Given the description of an element on the screen output the (x, y) to click on. 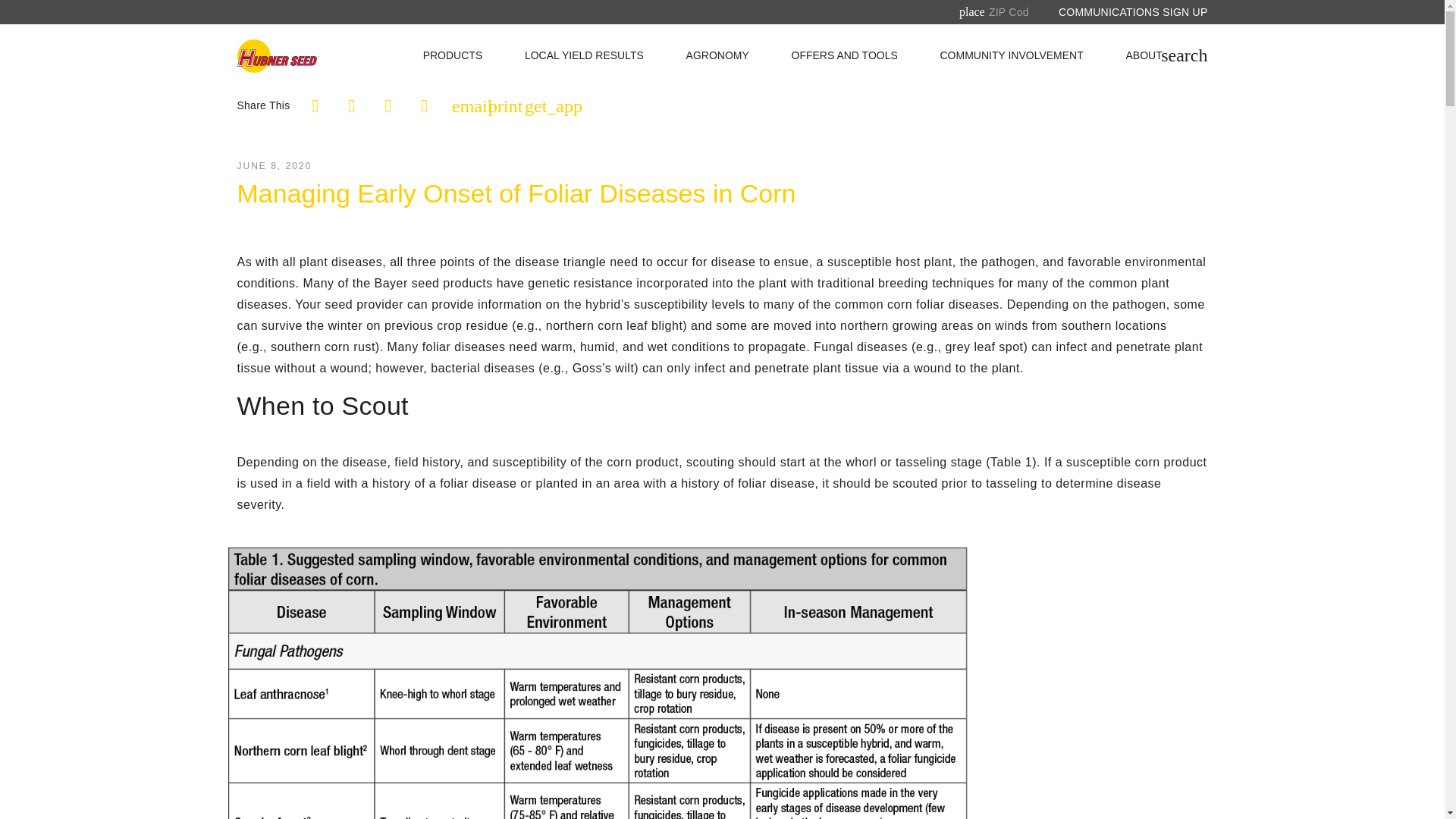
search (1183, 54)
COMMUNICATIONS SIGN UP (1133, 12)
OFFERS AND TOOLS (845, 55)
LOCAL YIELD RESULTS (583, 55)
Share on Facebook (315, 105)
PRODUCTS (452, 55)
Share on Twitter (351, 105)
COMMUNITY INVOLVEMENT (1011, 55)
AGRONOMY (717, 55)
Share on WhatsApp (424, 105)
